Given the description of an element on the screen output the (x, y) to click on. 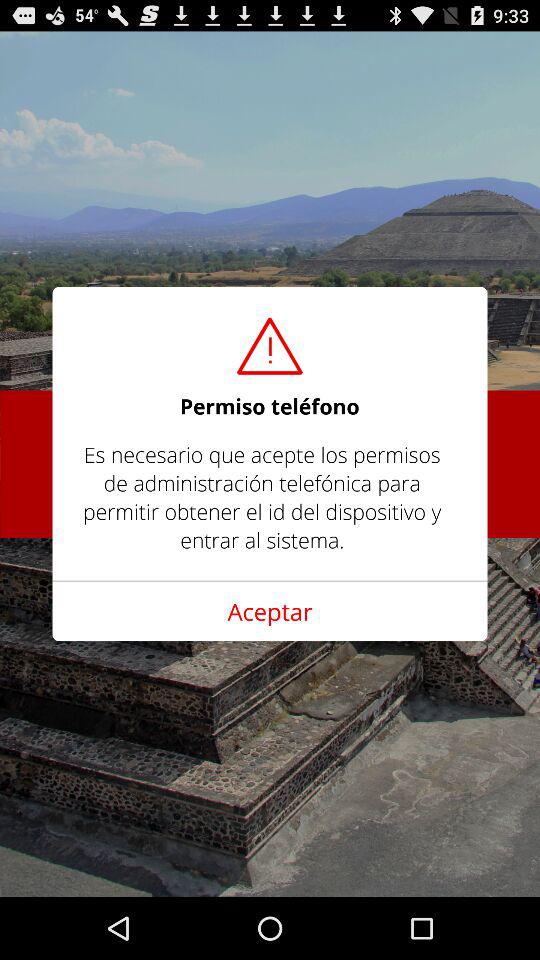
launch aceptar (269, 611)
